Given the description of an element on the screen output the (x, y) to click on. 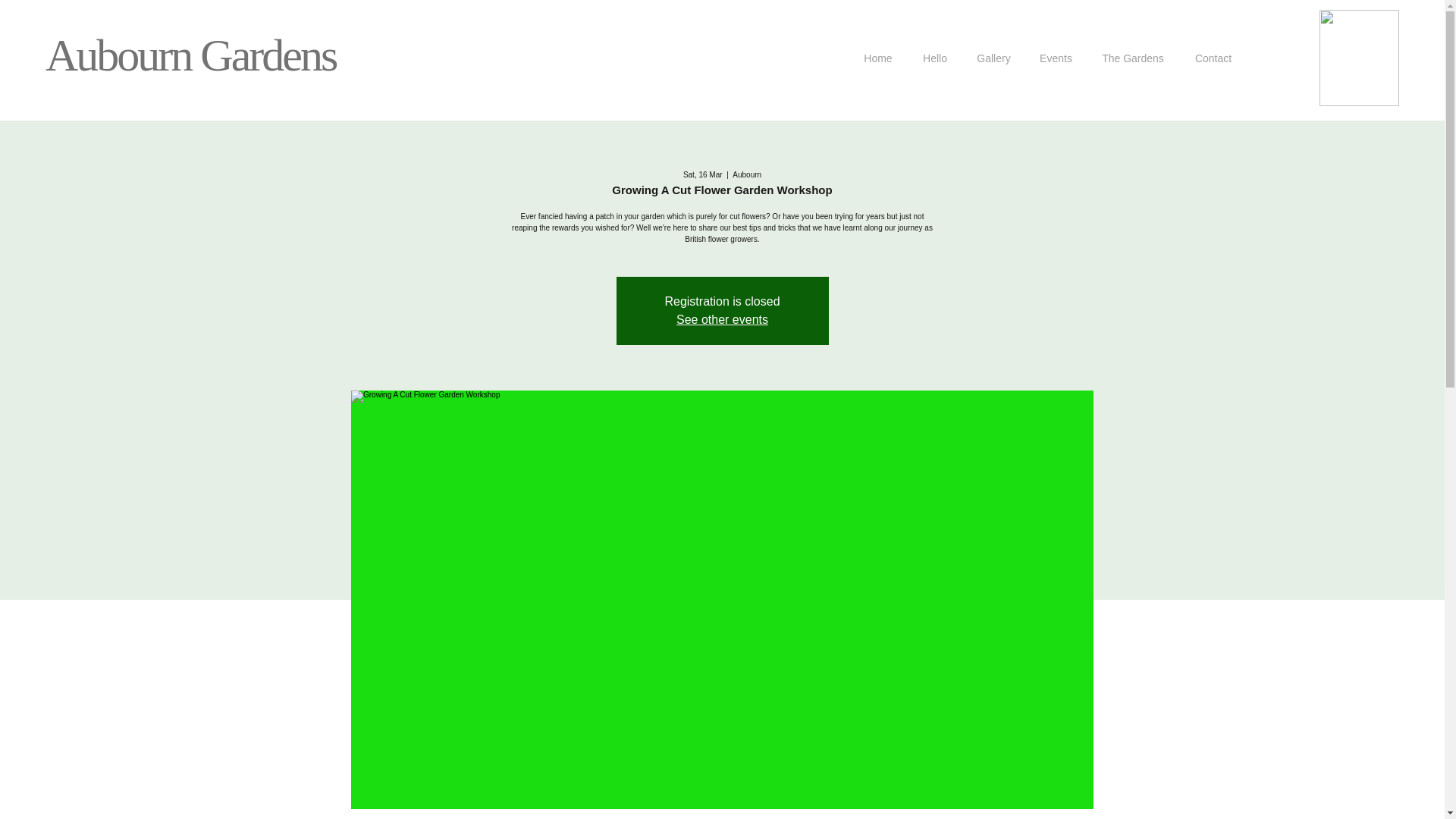
Gallery (993, 58)
Events (1055, 58)
Contact (1213, 58)
Hello (934, 58)
See other events (722, 318)
The Gardens (1132, 58)
Home (877, 58)
